Given the description of an element on the screen output the (x, y) to click on. 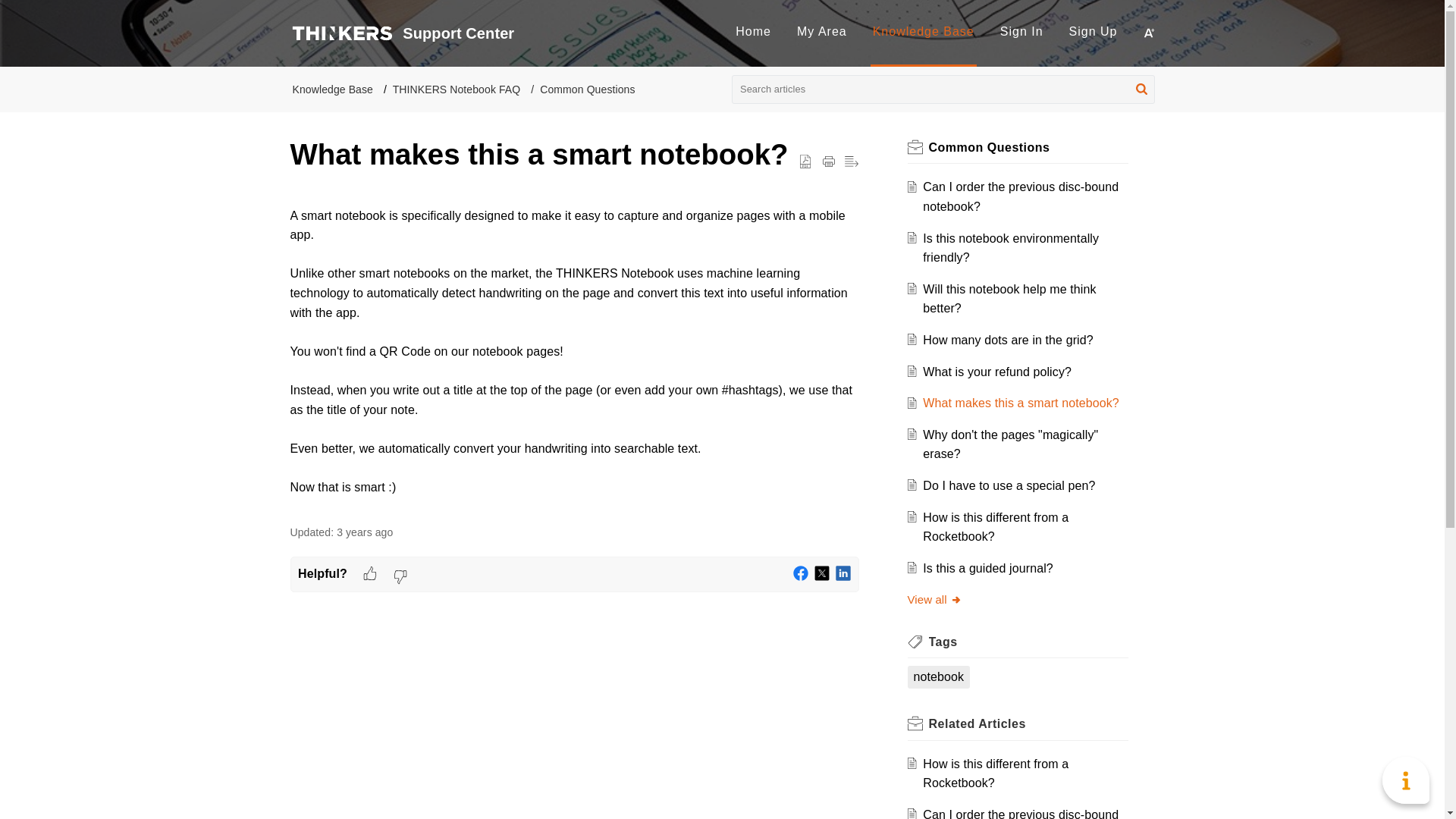
Support Center (562, 33)
Twitter (821, 573)
THINKERS Notebook FAQ (457, 89)
Knowledge Base (923, 31)
Can I order the previous disc-bound notebook? (1020, 196)
notebook (937, 677)
Common Questions (988, 146)
14 Dec 2020 11:38 PM (364, 532)
Is this a guided journal? (987, 567)
How many dots are in the grid? (1008, 339)
Will this notebook help me think better? (1009, 298)
My Area (821, 31)
Download as PDF (804, 161)
How is this different from a Rocketbook? (995, 527)
Sign In (1021, 31)
